Given the description of an element on the screen output the (x, y) to click on. 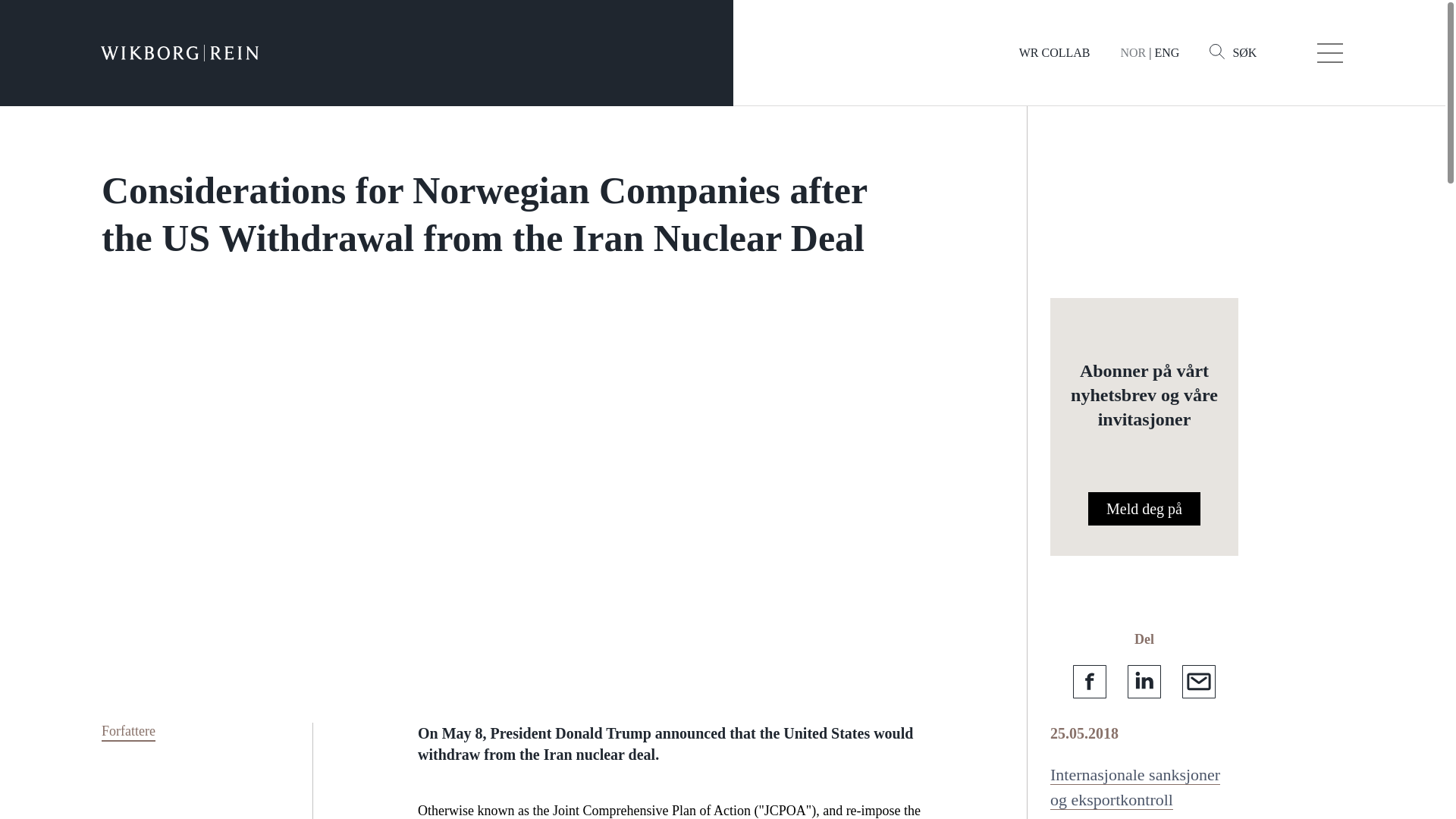
ENG (1166, 51)
Del via e-post (1198, 681)
Internasjonale sanksjoner og eksportkontroll (1134, 786)
WR COLLAB (1054, 51)
